Given the description of an element on the screen output the (x, y) to click on. 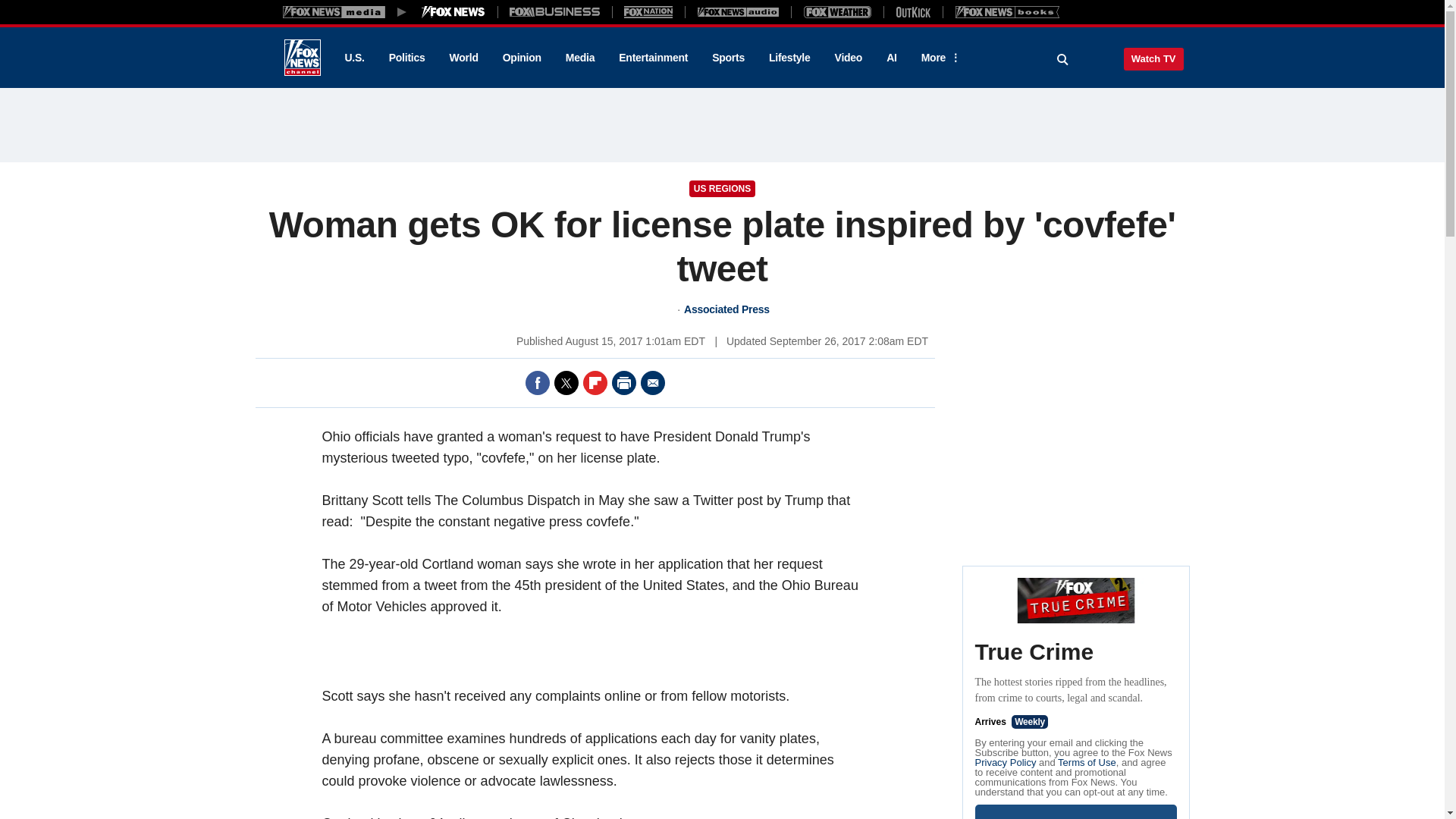
U.S. (353, 57)
World (464, 57)
Lifestyle (789, 57)
Opinion (521, 57)
Video (848, 57)
More (938, 57)
Books (1007, 11)
Fox Weather (836, 11)
AI (891, 57)
Fox Nation (648, 11)
